Given the description of an element on the screen output the (x, y) to click on. 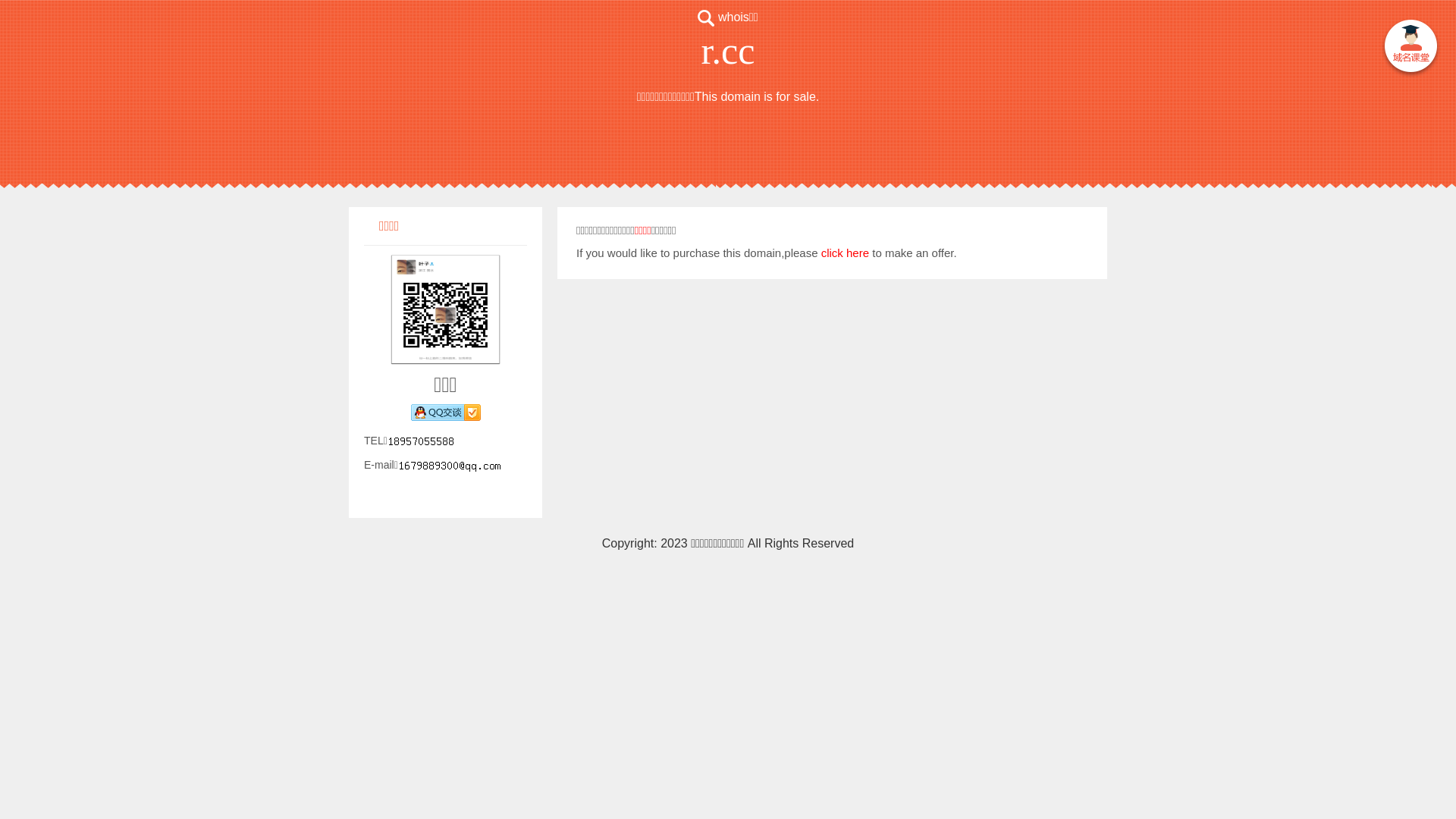
click here Element type: text (845, 252)
  Element type: text (1410, 48)
